Given the description of an element on the screen output the (x, y) to click on. 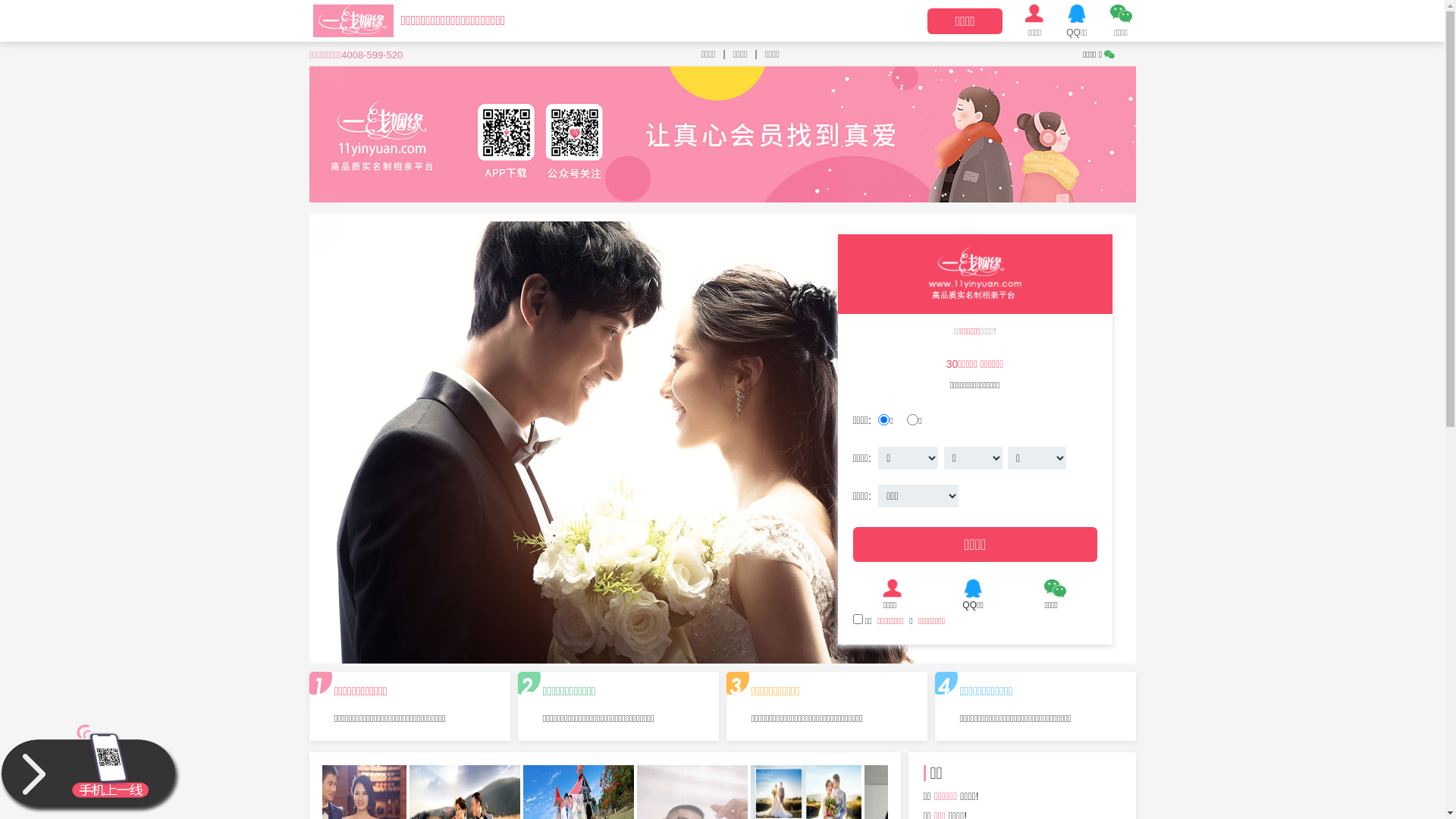
Elma Element type: text (970, 354)
Elma Element type: text (946, 802)
